Given the description of an element on the screen output the (x, y) to click on. 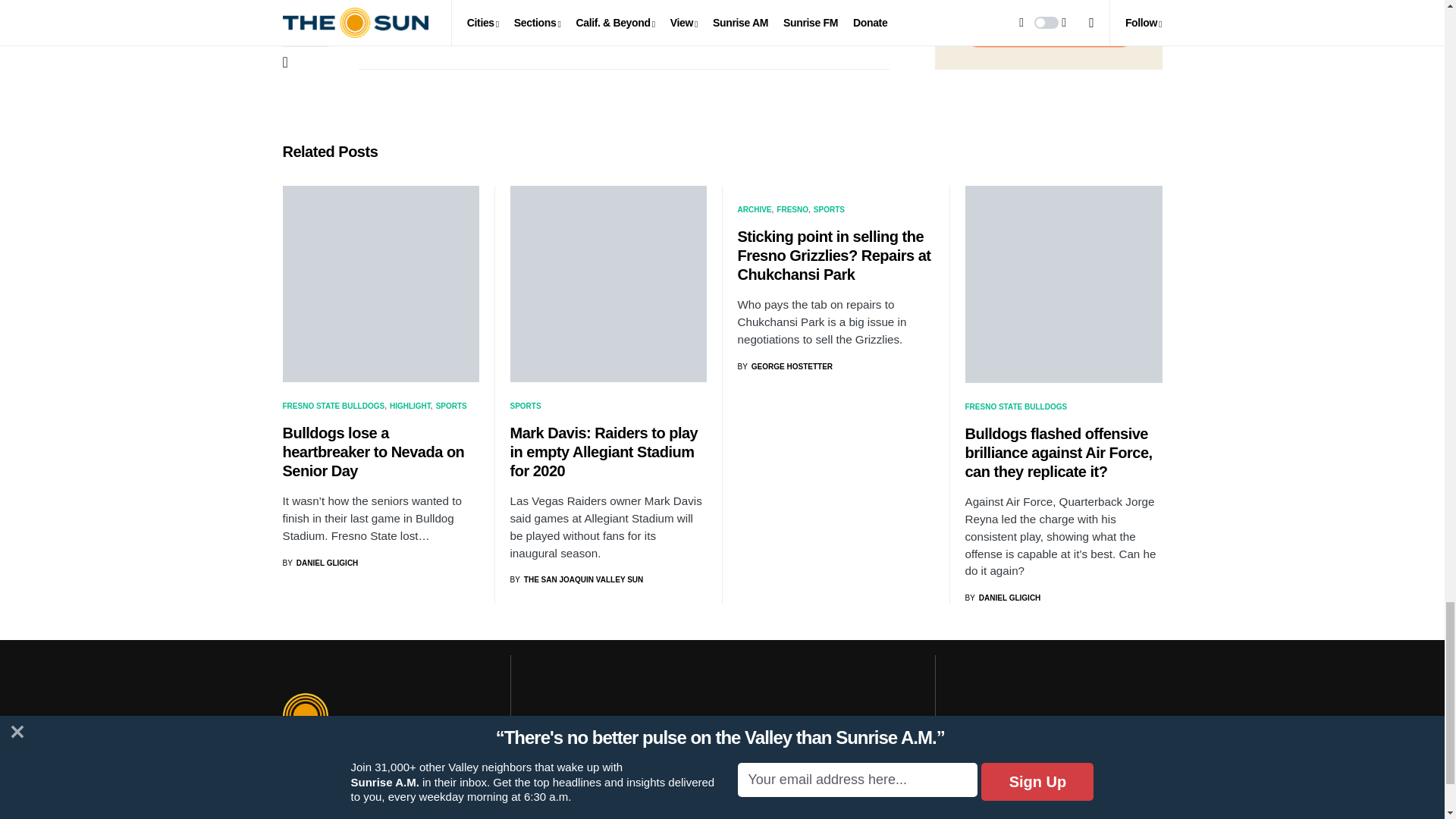
View all posts by The San Joaquin Valley Sun (576, 579)
View all posts by George Hostetter (784, 366)
View all posts by Daniel Gligich (1002, 597)
View all posts by Daniel Gligich (320, 562)
